Given the description of an element on the screen output the (x, y) to click on. 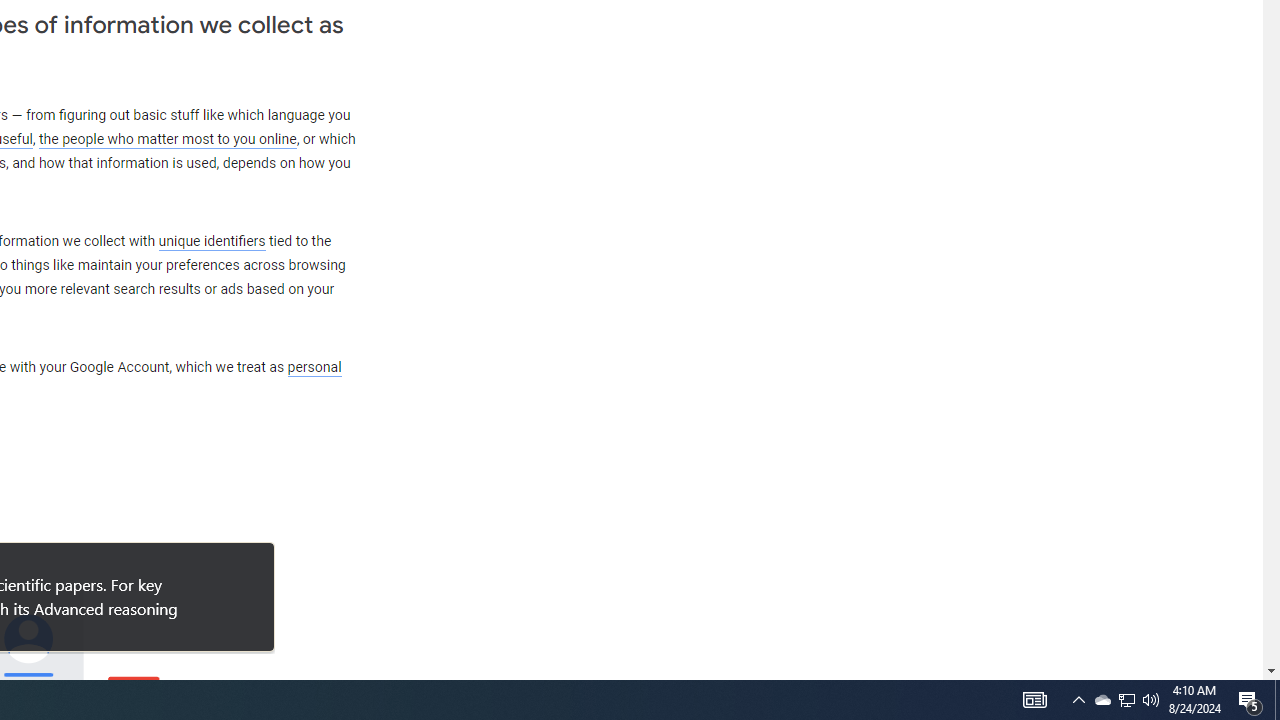
unique identifiers (211, 241)
the people who matter most to you online (167, 139)
